Given the description of an element on the screen output the (x, y) to click on. 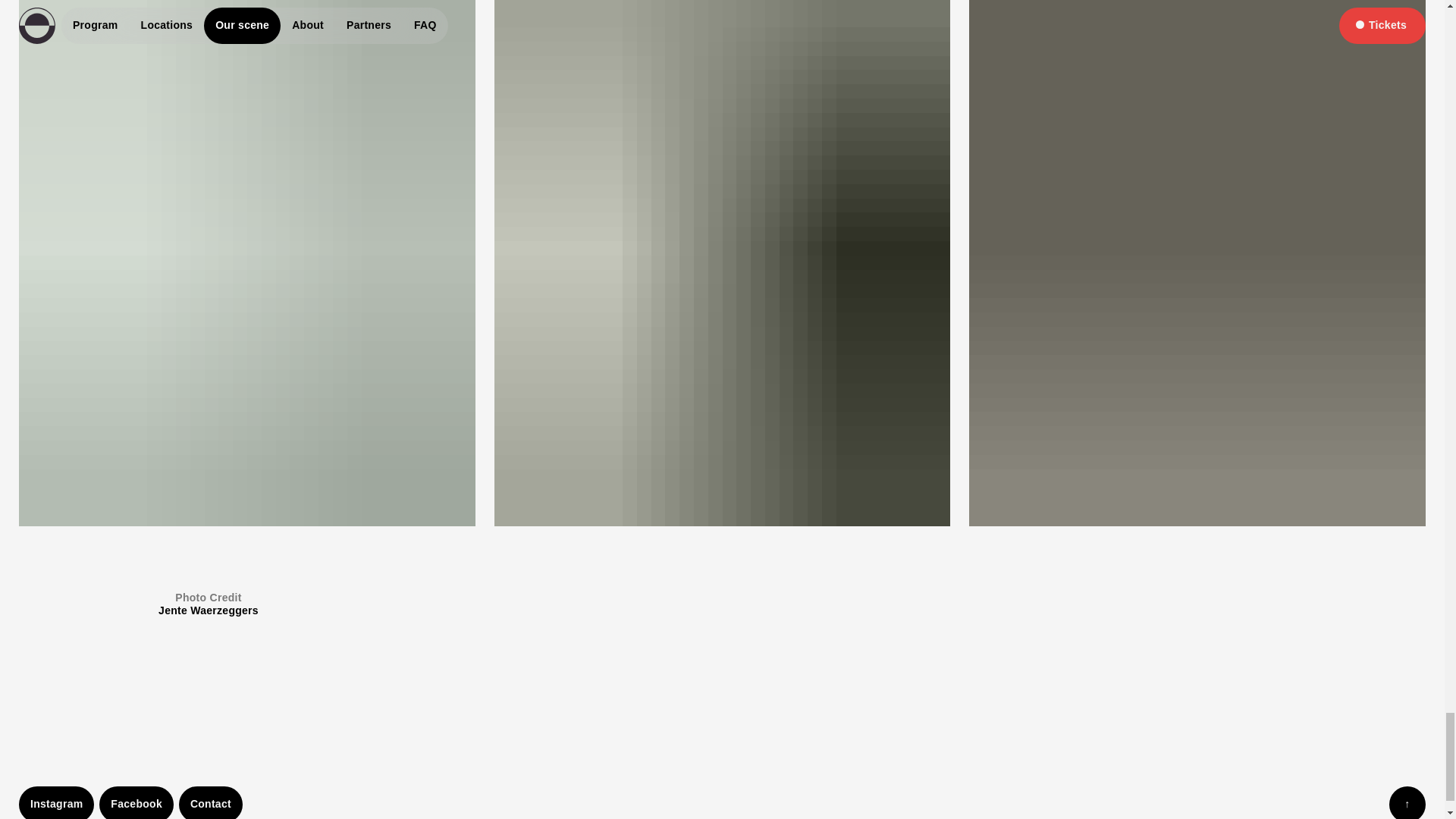
Facebook (136, 802)
Contact (211, 802)
Instagram (56, 802)
